Given the description of an element on the screen output the (x, y) to click on. 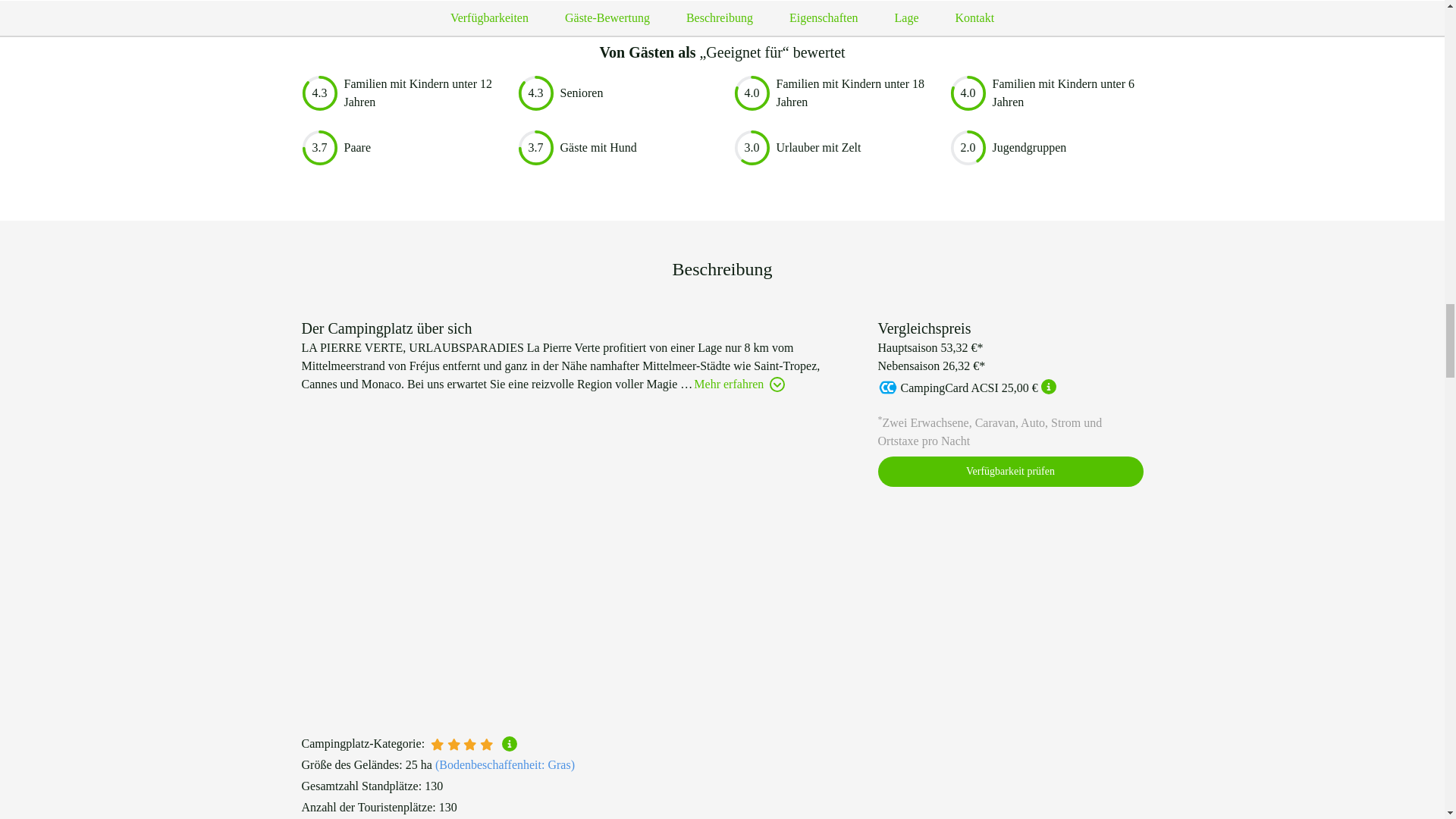
Familien mit Kindern unter 12 Jahren (419, 93)
Familien mit Kindern unter 18 Jahren (851, 93)
Senioren (580, 93)
Familien mit Kindern unter 6 Jahren (1066, 93)
